Given the description of an element on the screen output the (x, y) to click on. 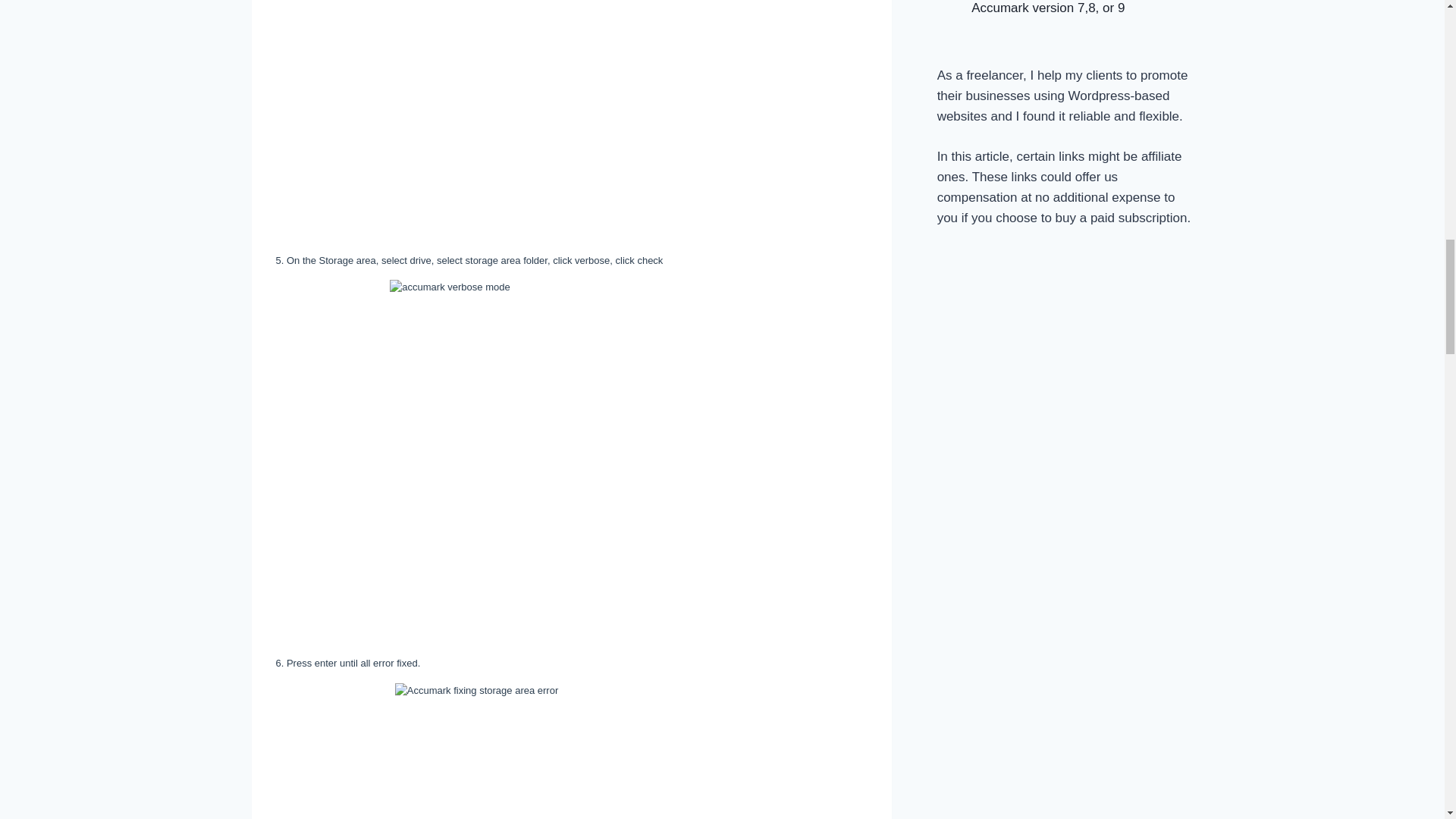
How to Repair Storage Area Missing on Accumark 5 (571, 751)
How to Repair Storage Area Missing on Accumark 3 (571, 88)
How to Repair Storage Area Missing on Accumark 4 (571, 460)
